Given the description of an element on the screen output the (x, y) to click on. 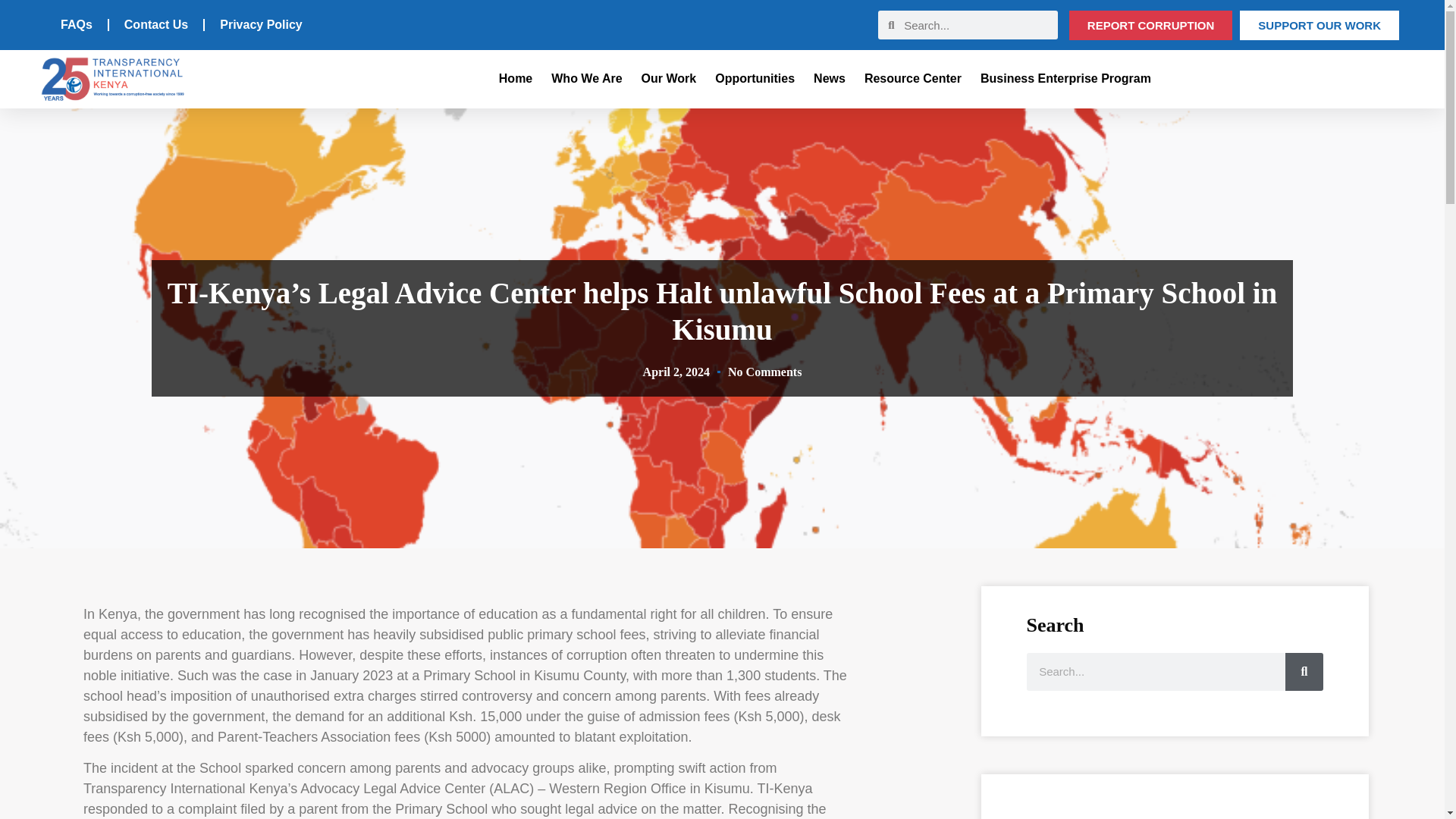
FAQs (76, 24)
Contact Us (156, 24)
REPORT CORRUPTION (1150, 25)
Our Work (669, 78)
SUPPORT OUR WORK (1319, 25)
Privacy Policy (261, 24)
Opportunities (754, 78)
Who We Are (586, 78)
Business Enterprise Program (1065, 78)
Home (515, 78)
Resource Center (912, 78)
News (829, 78)
